Given the description of an element on the screen output the (x, y) to click on. 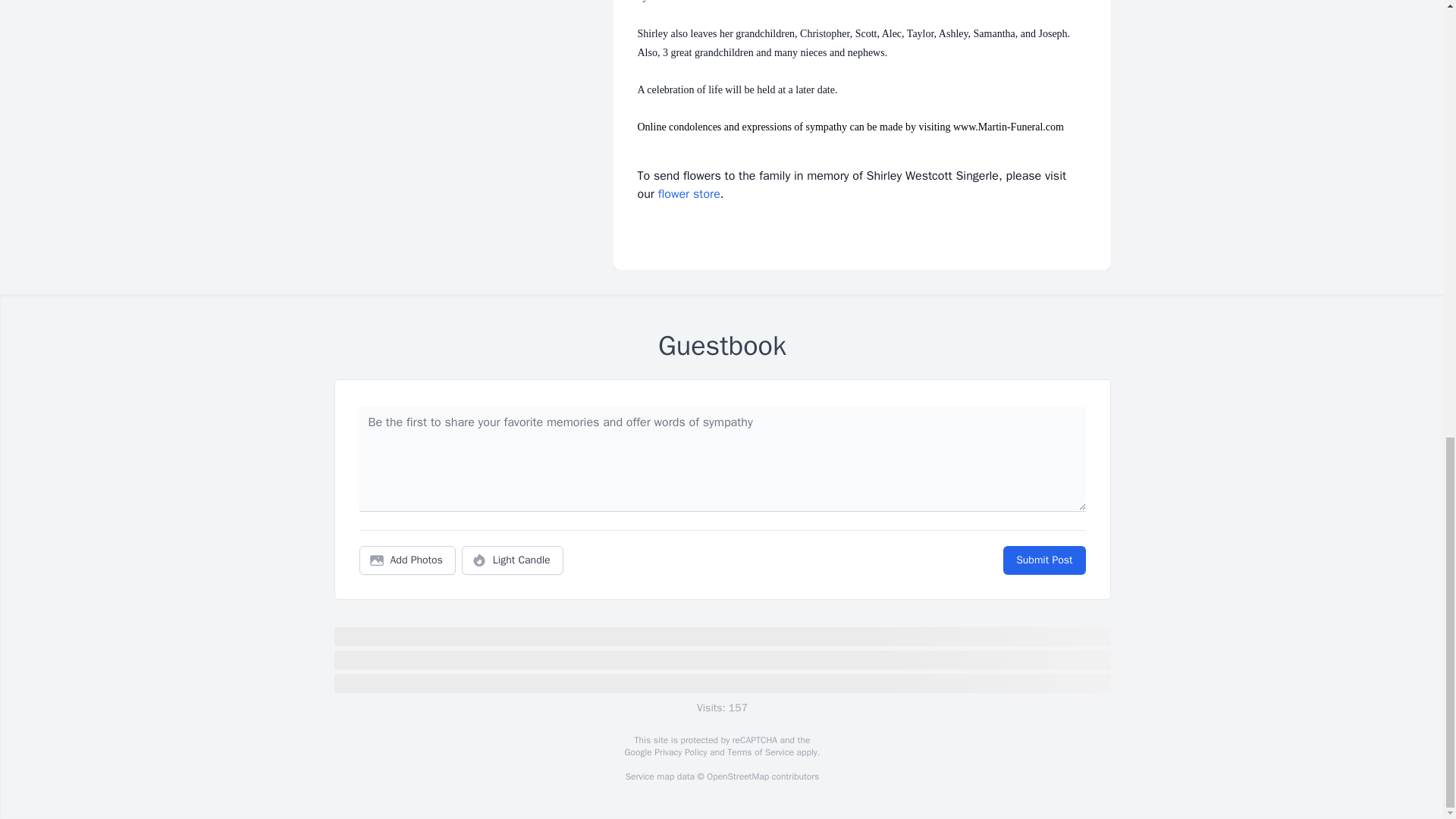
flower store (689, 193)
Submit Post (1043, 560)
OpenStreetMap (737, 776)
Light Candle (512, 560)
Add Photos (407, 560)
Privacy Policy (679, 752)
Terms of Service (759, 752)
